Given the description of an element on the screen output the (x, y) to click on. 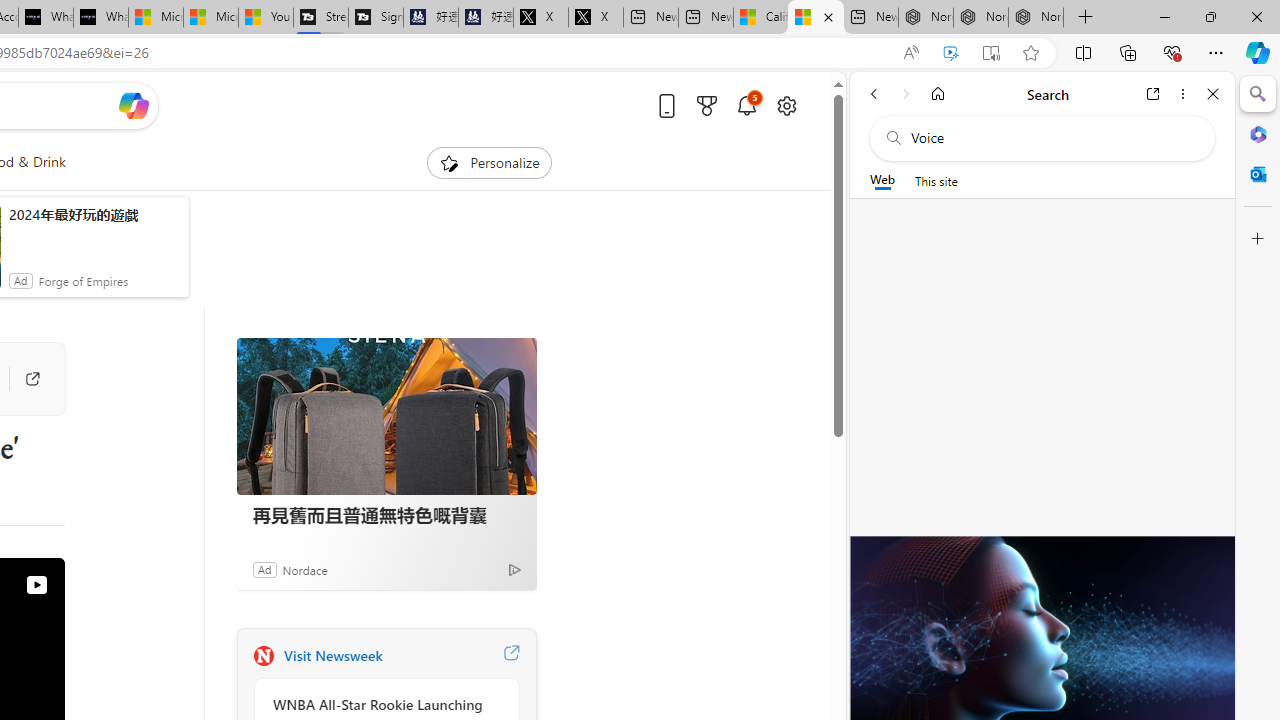
To get missing image descriptions, open the context menu. (449, 162)
Microsoft rewards (707, 105)
New tab (870, 17)
Go to publisher's site (32, 378)
New Tab (1085, 17)
Microsoft Start (211, 17)
X (596, 17)
Outlook (1258, 174)
Back (874, 93)
Personalize (488, 162)
Ad (264, 569)
Browser essentials (1171, 52)
